Given the description of an element on the screen output the (x, y) to click on. 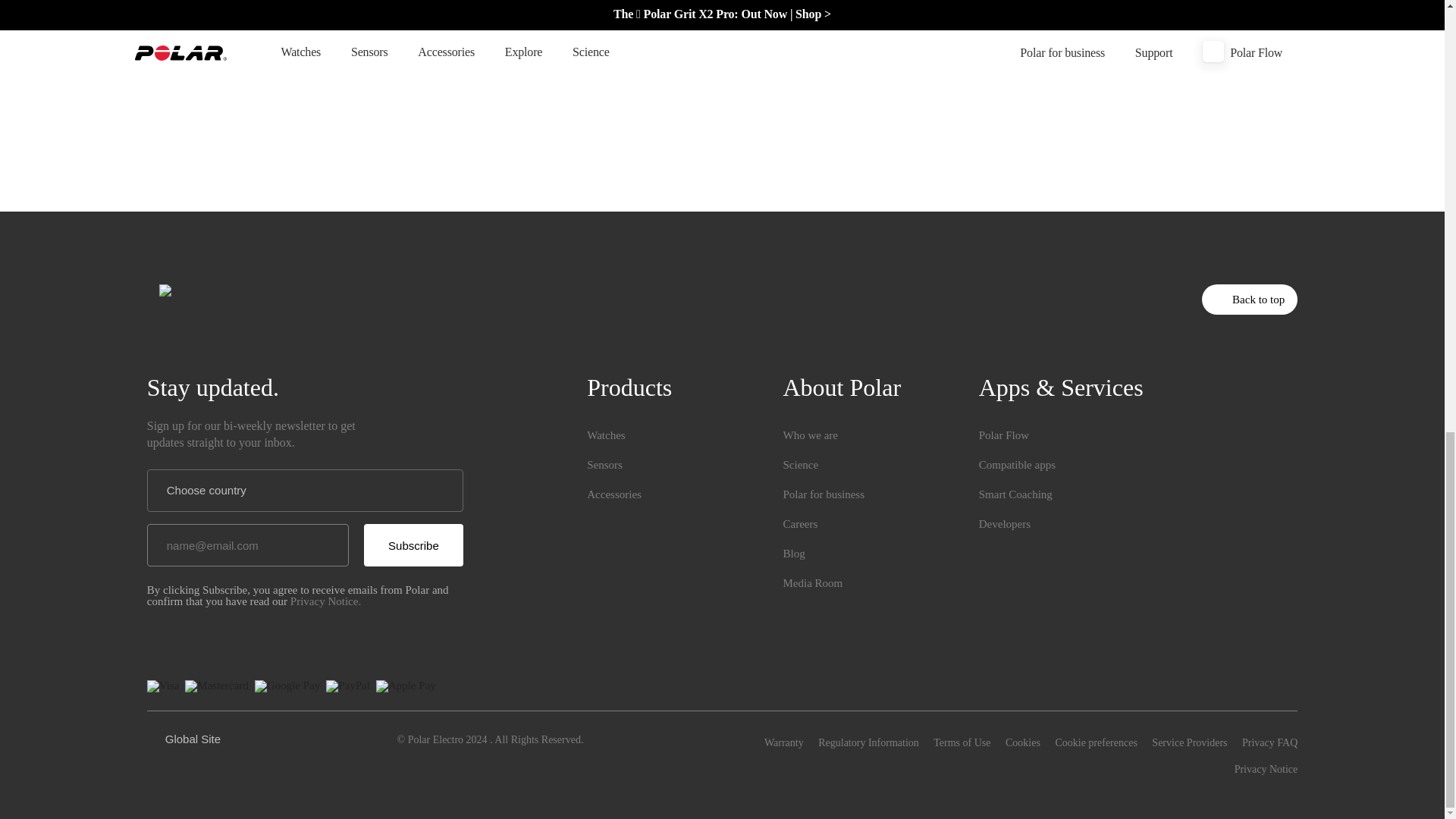
Subscribe (413, 545)
